Given the description of an element on the screen output the (x, y) to click on. 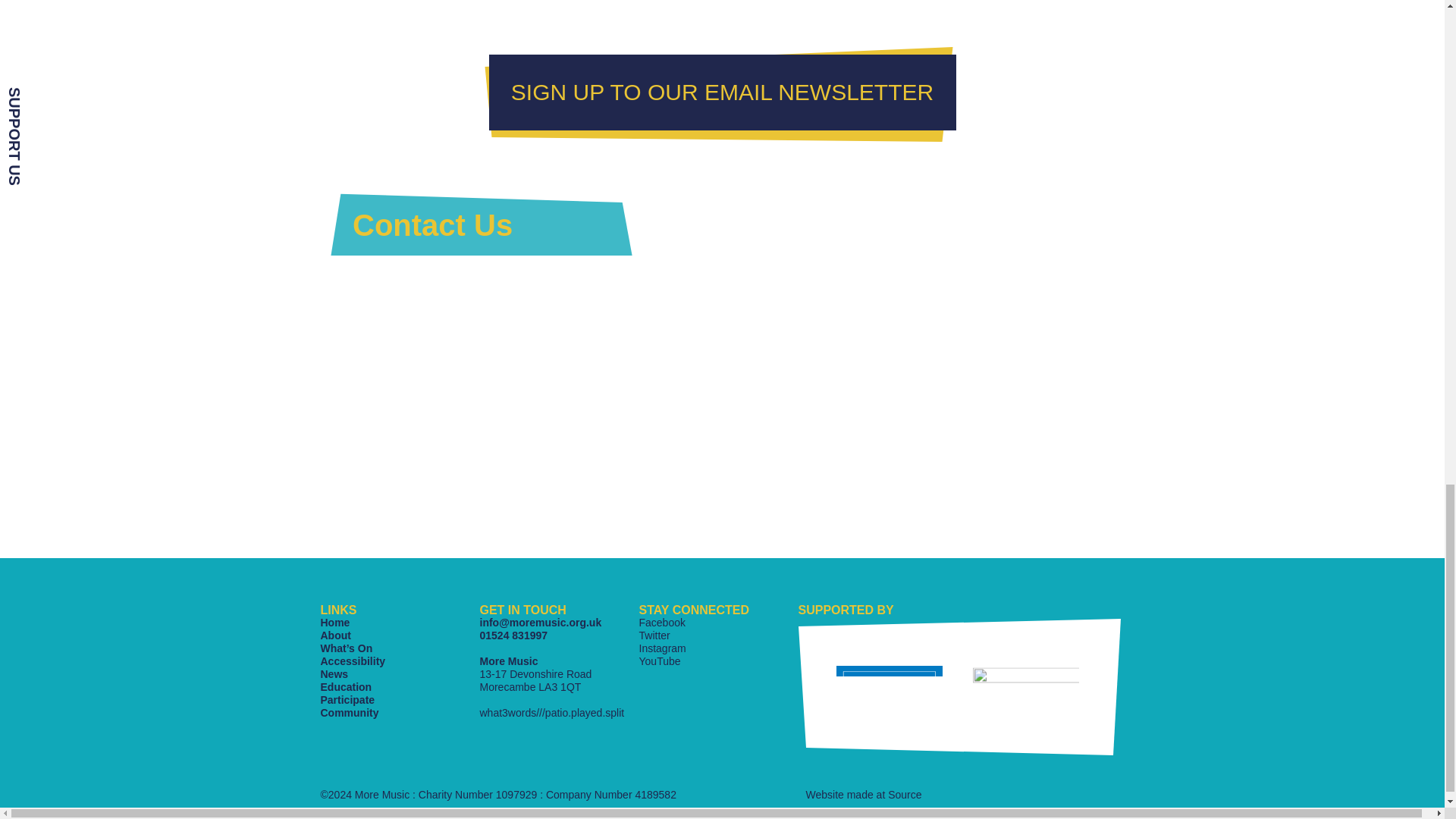
News (333, 674)
SIGN UP TO OUR EMAIL NEWSLETTER (721, 92)
Participate (347, 699)
Home (334, 622)
Education (345, 686)
Accessibility (352, 661)
About (335, 635)
